Given the description of an element on the screen output the (x, y) to click on. 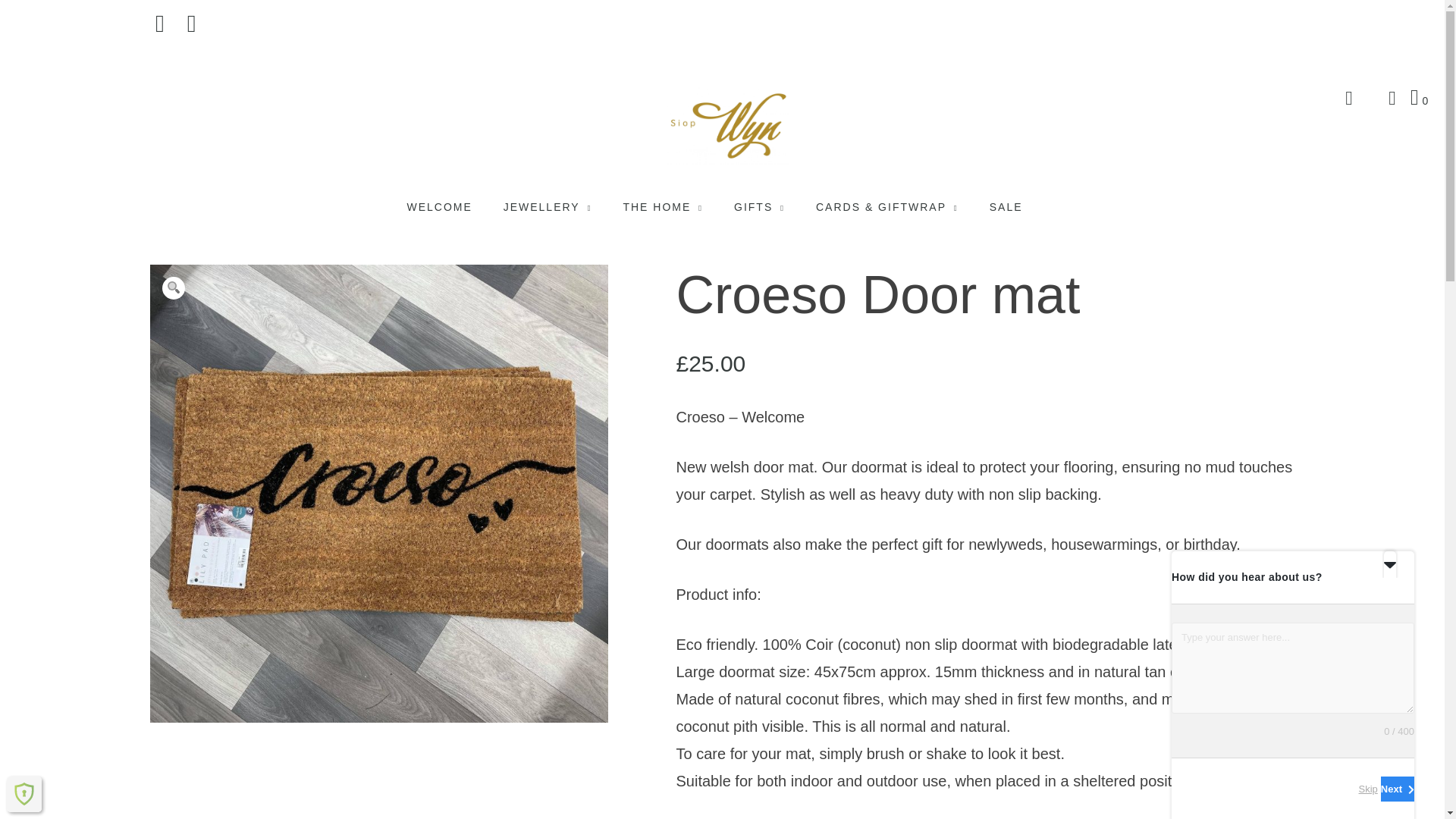
instagram (191, 23)
Shield Security (23, 793)
facebook (159, 23)
